Given the description of an element on the screen output the (x, y) to click on. 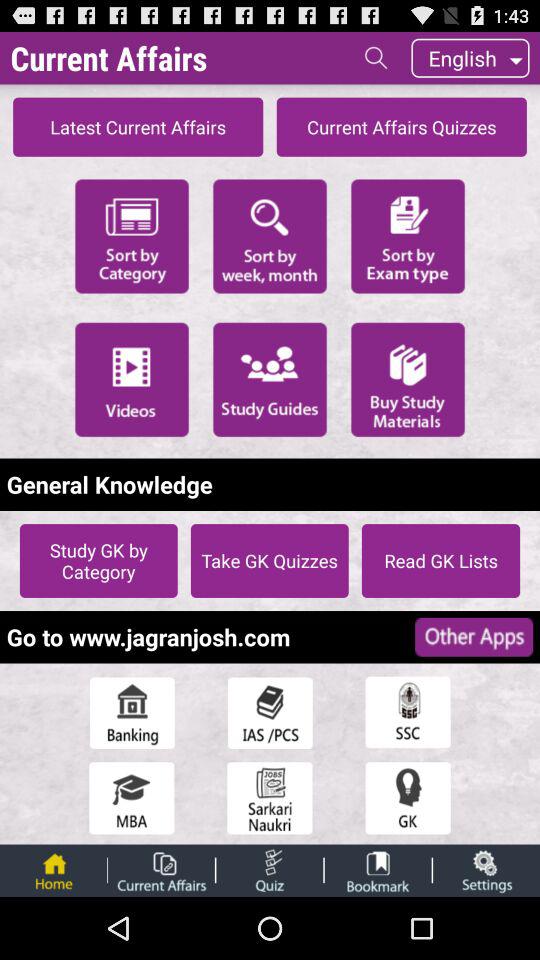
gk (407, 798)
